Given the description of an element on the screen output the (x, y) to click on. 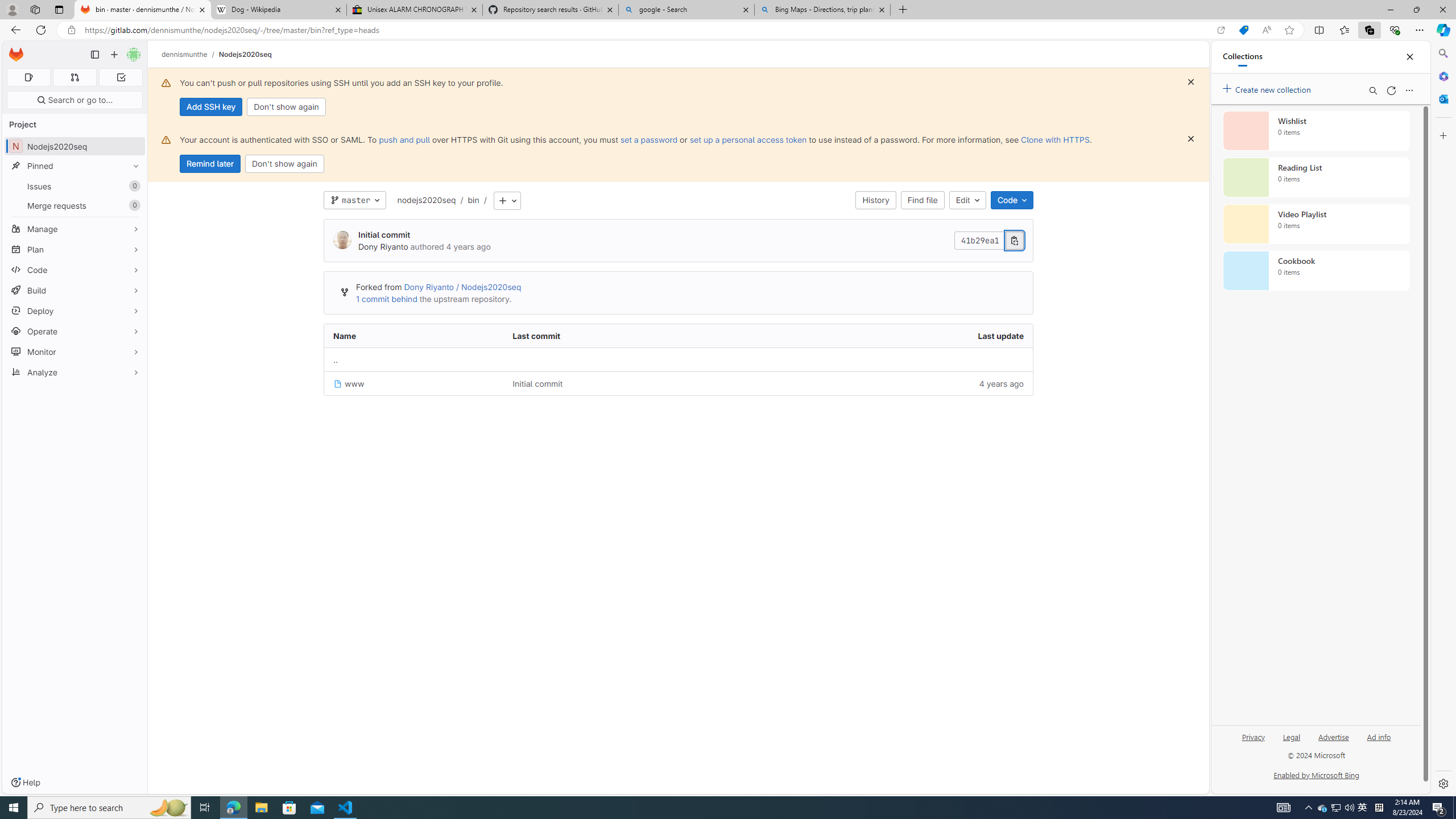
Deploy (74, 310)
Side bar (1443, 418)
set a password (649, 139)
Build (74, 289)
dennismunthe (184, 53)
Skip to main content (13, 49)
Dony Riyanto (382, 246)
Dismiss (1190, 138)
Help (25, 782)
push and pull (403, 139)
Class: s16 gl-icon gl-button-icon  (1190, 138)
Dony Riyanto's avatar (341, 239)
